Given the description of an element on the screen output the (x, y) to click on. 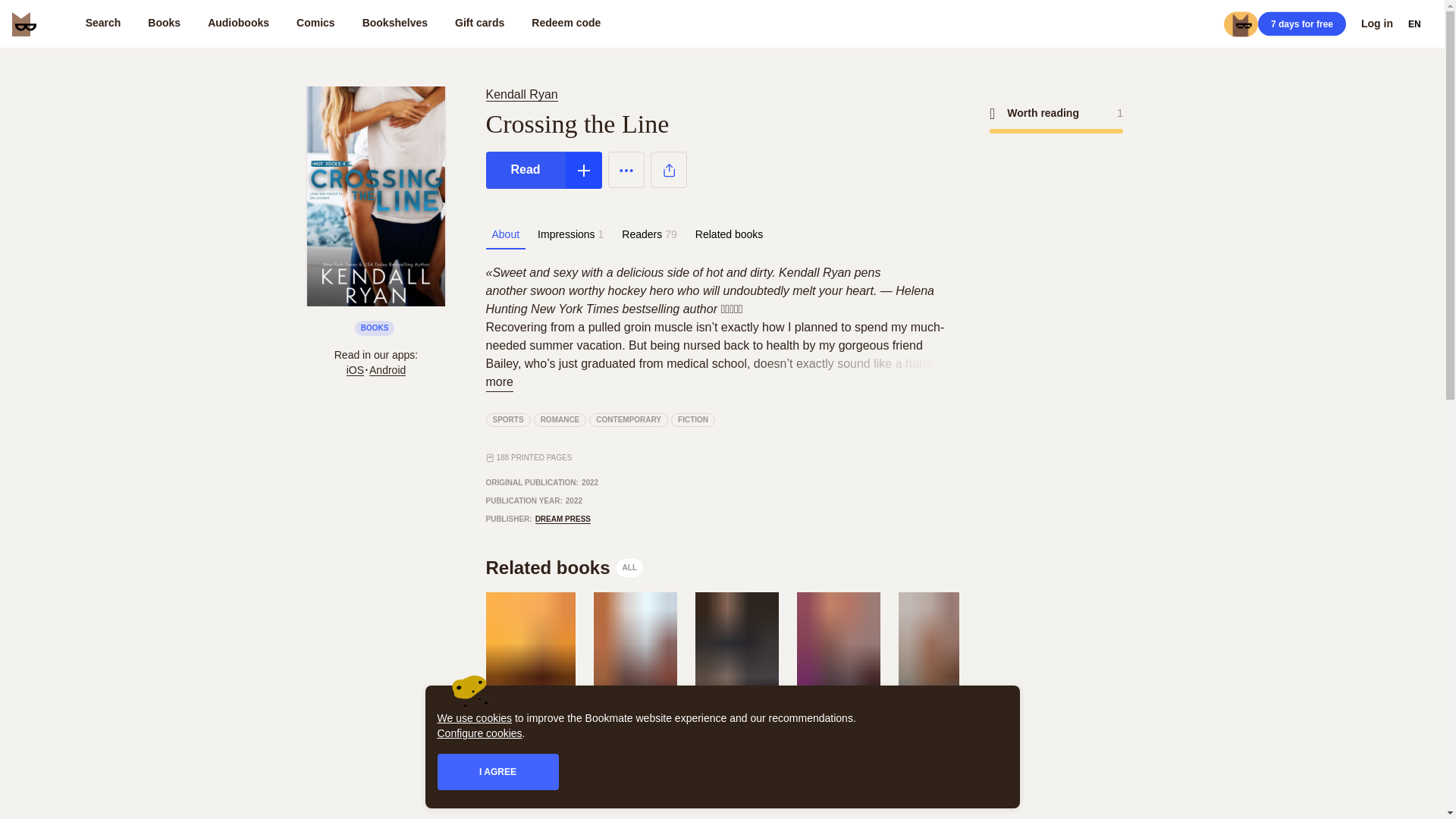
Read (524, 169)
The Anti-Boyfriend (735, 760)
Keeping Him (836, 752)
Kendall Ryan (523, 93)
Redeem code (565, 24)
7 days for free (1301, 23)
Penelope Ward (735, 738)
ROMANCE (560, 419)
Bookshelves (394, 24)
FICTION (563, 567)
The Anti-Boyfriend (692, 419)
Kendall Ryan (735, 760)
CONTEMPORARY (520, 94)
Impressions1 (628, 419)
